Given the description of an element on the screen output the (x, y) to click on. 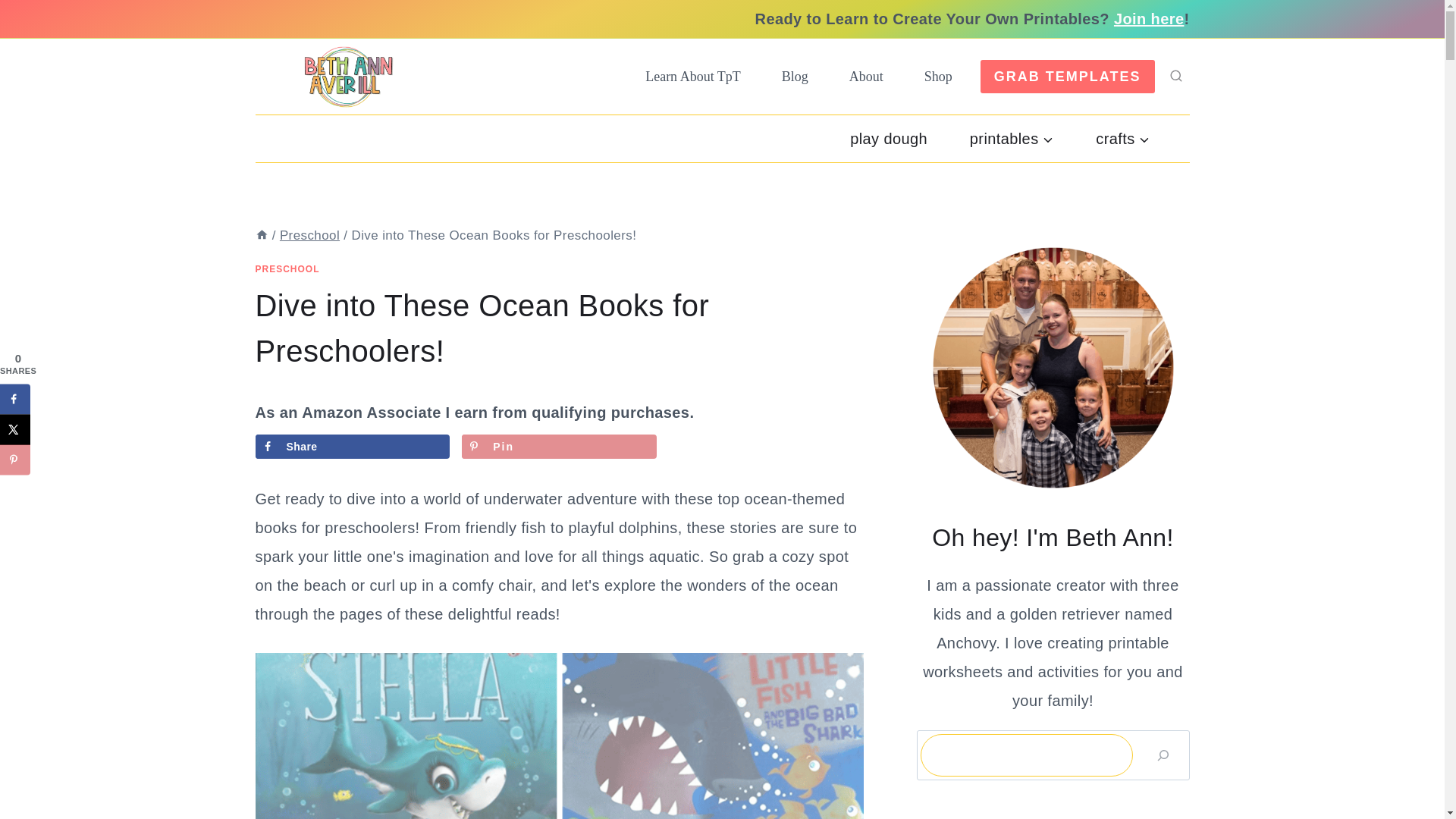
Dive into These Ocean Books for Preschoolers! 1 (558, 735)
play dough (888, 138)
crafts (1122, 138)
printables (1012, 138)
About (866, 76)
PRESCHOOL (286, 268)
Share (351, 446)
Learn About TpT (692, 76)
Pin (558, 446)
Blog (794, 76)
